Given the description of an element on the screen output the (x, y) to click on. 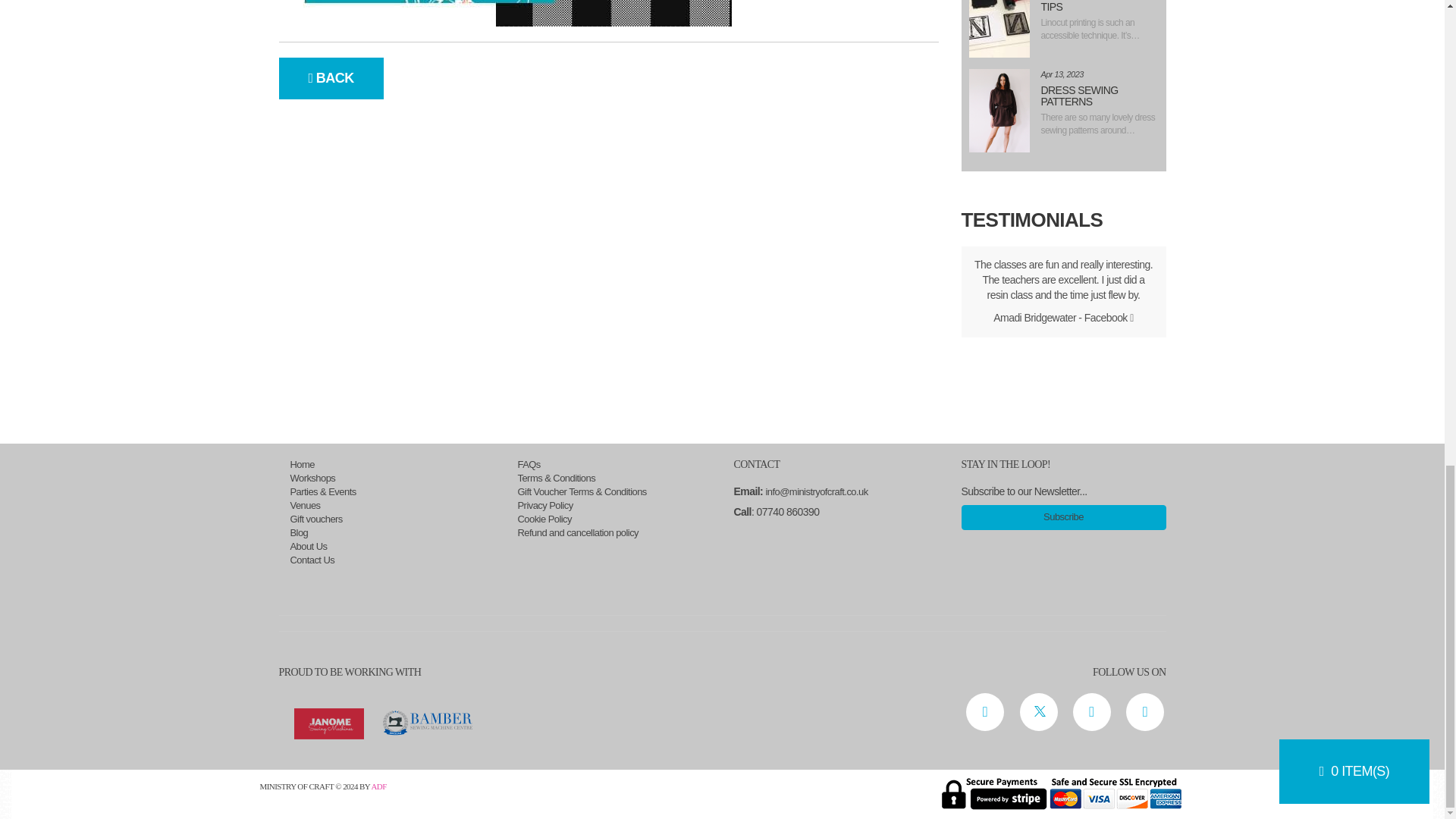
FABRIC FRIDAY! (999, 110)
FABRIC FRIDAY! (505, 13)
Janome (329, 723)
FABRIC FRIDAY! (999, 28)
Bamber Sewing Machines (426, 722)
FABRIC FRIDAY! (426, 722)
